Given the description of an element on the screen output the (x, y) to click on. 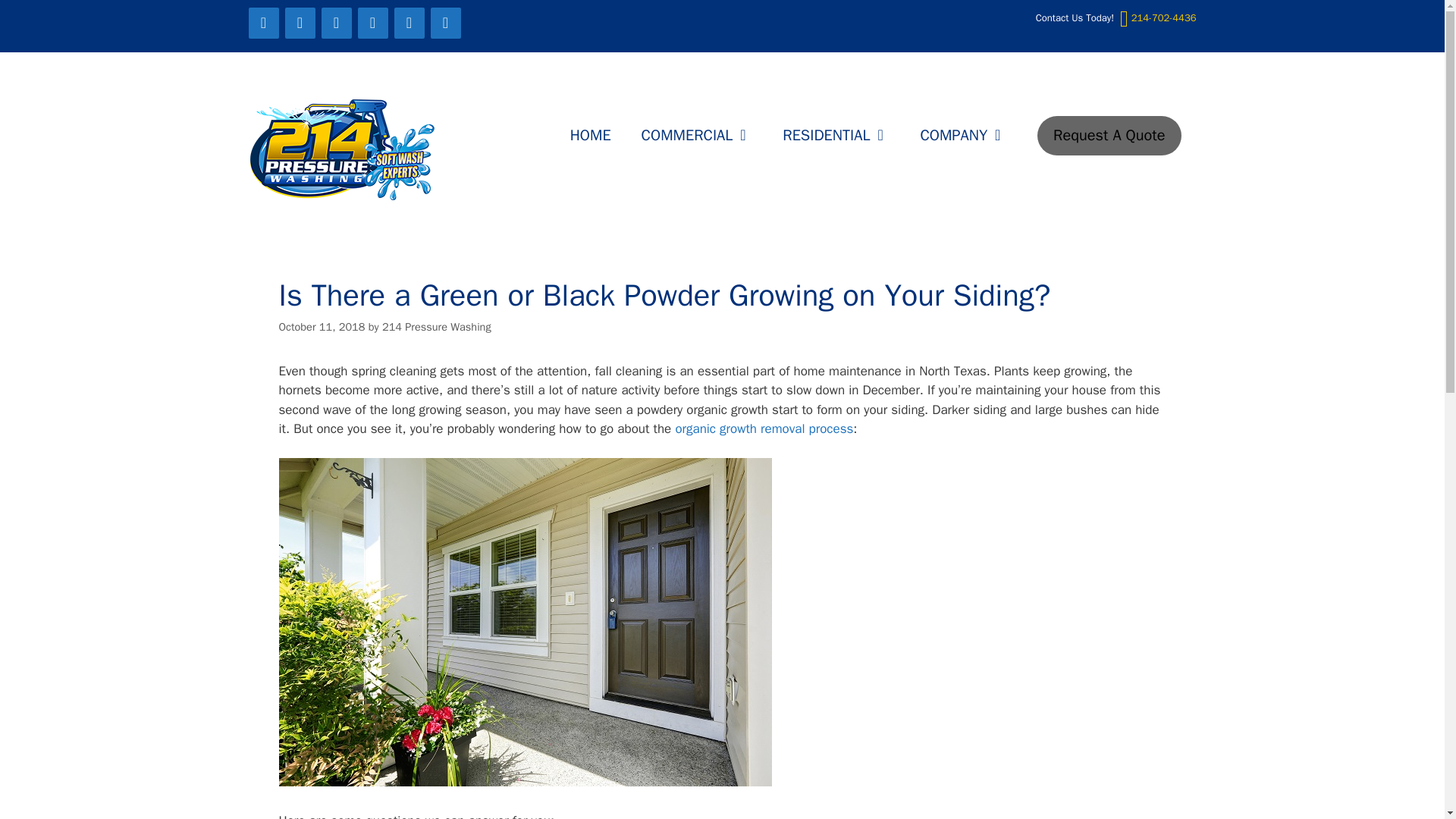
October 11, 2018 (322, 326)
organic growth removal process (764, 428)
Request A Quote (1108, 135)
2:51 am (322, 326)
214 Pressure Washing (343, 148)
COMPANY (963, 135)
COMMERCIAL (697, 135)
Request A Quote (1108, 135)
214 Pressure Washing (343, 149)
RESIDENTIAL (835, 135)
Facebook (263, 22)
Twitter (300, 22)
YouTube (373, 22)
Instagram (445, 22)
